Given the description of an element on the screen output the (x, y) to click on. 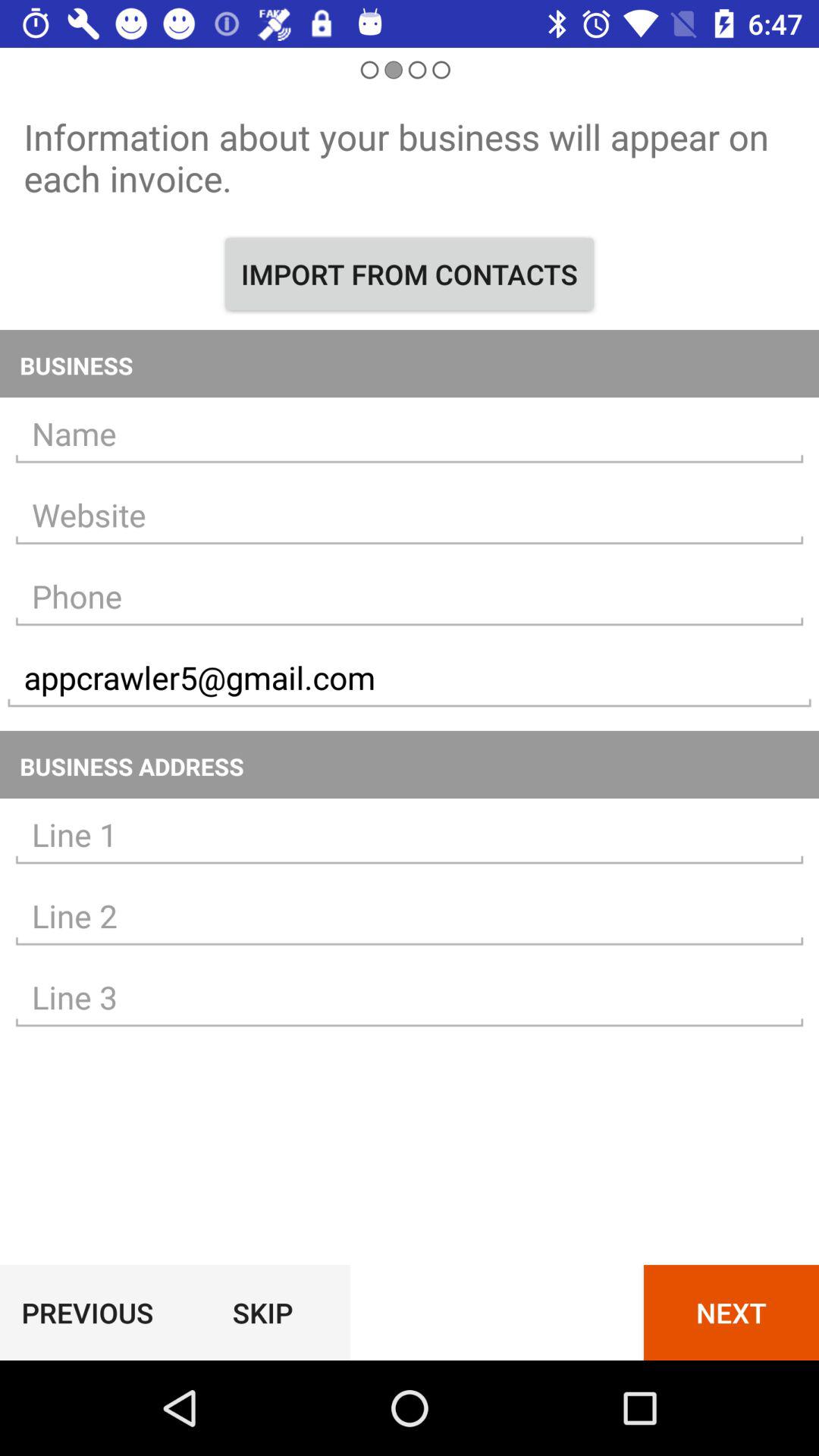
press the icon below the business item (409, 433)
